Given the description of an element on the screen output the (x, y) to click on. 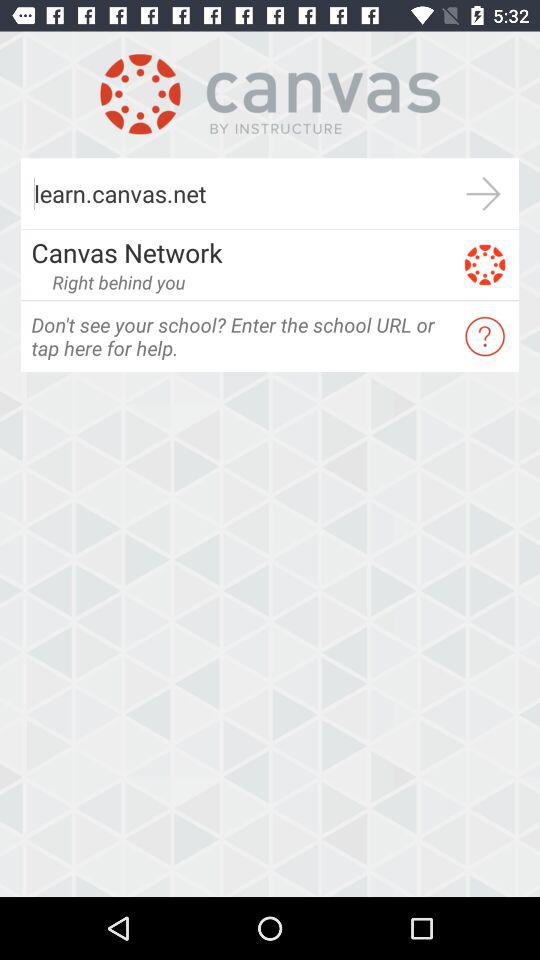
forward to next option (483, 193)
